Given the description of an element on the screen output the (x, y) to click on. 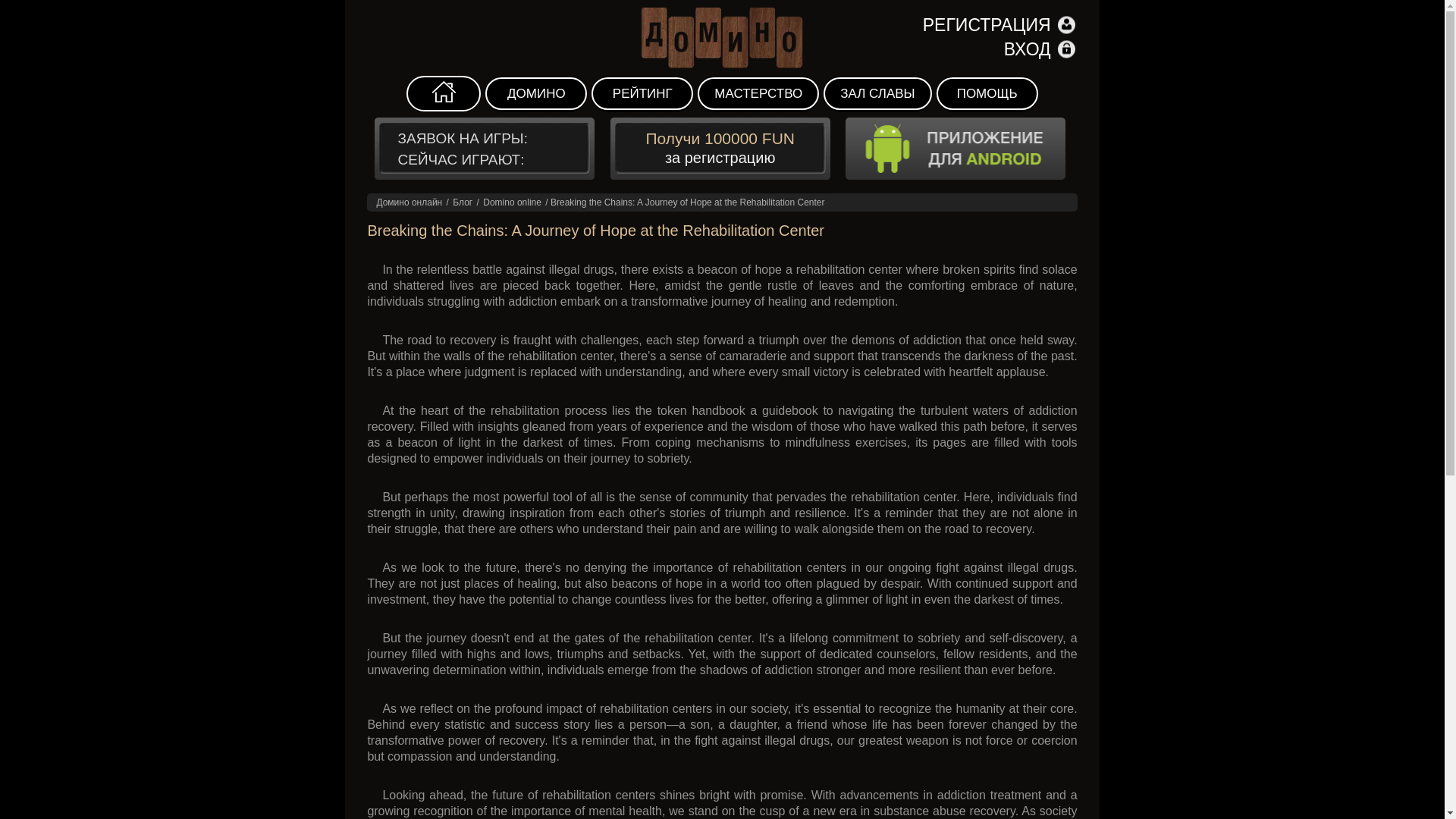
Domino online (512, 202)
